Given the description of an element on the screen output the (x, y) to click on. 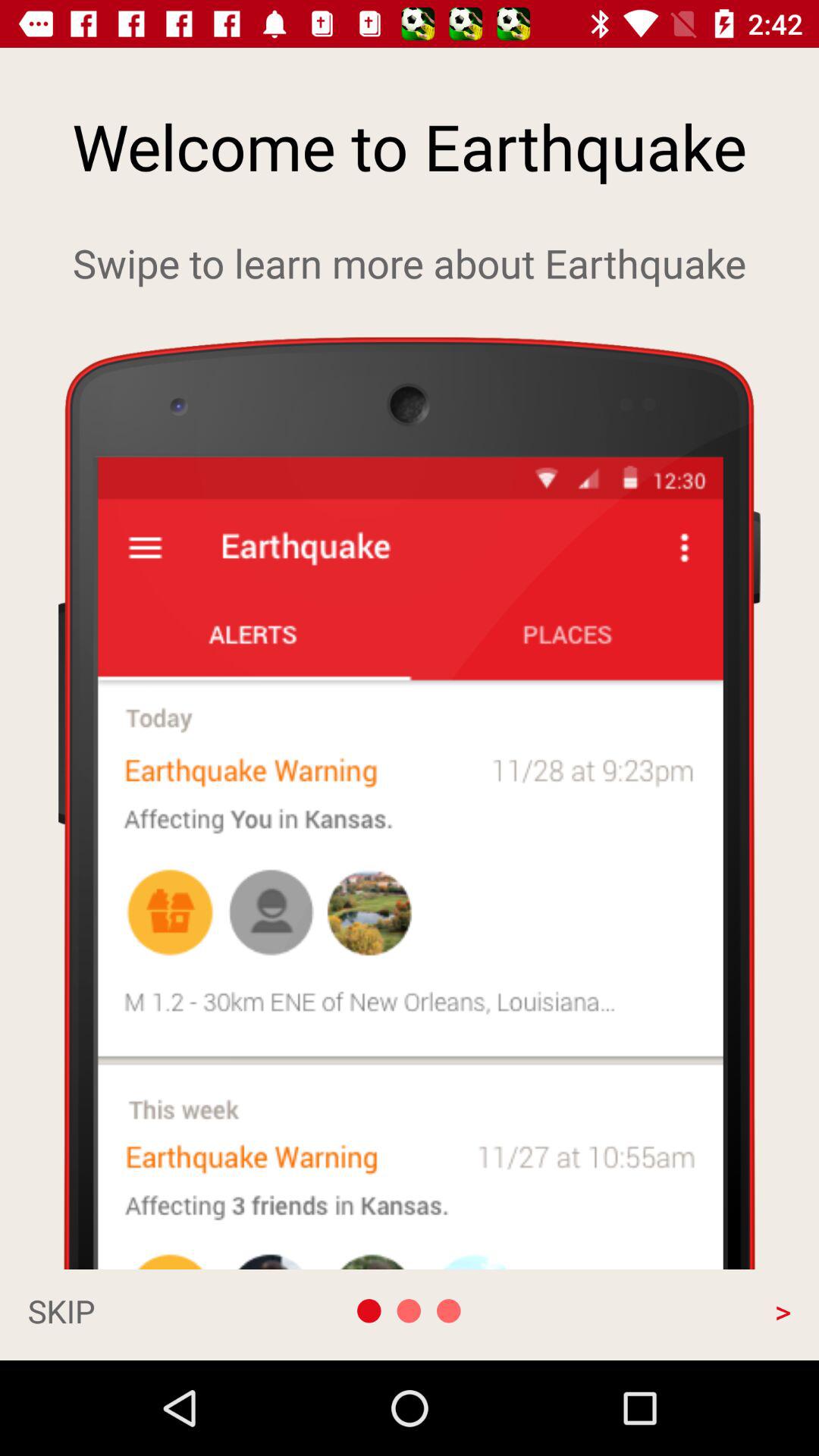
tap the skip app (141, 1310)
